Given the description of an element on the screen output the (x, y) to click on. 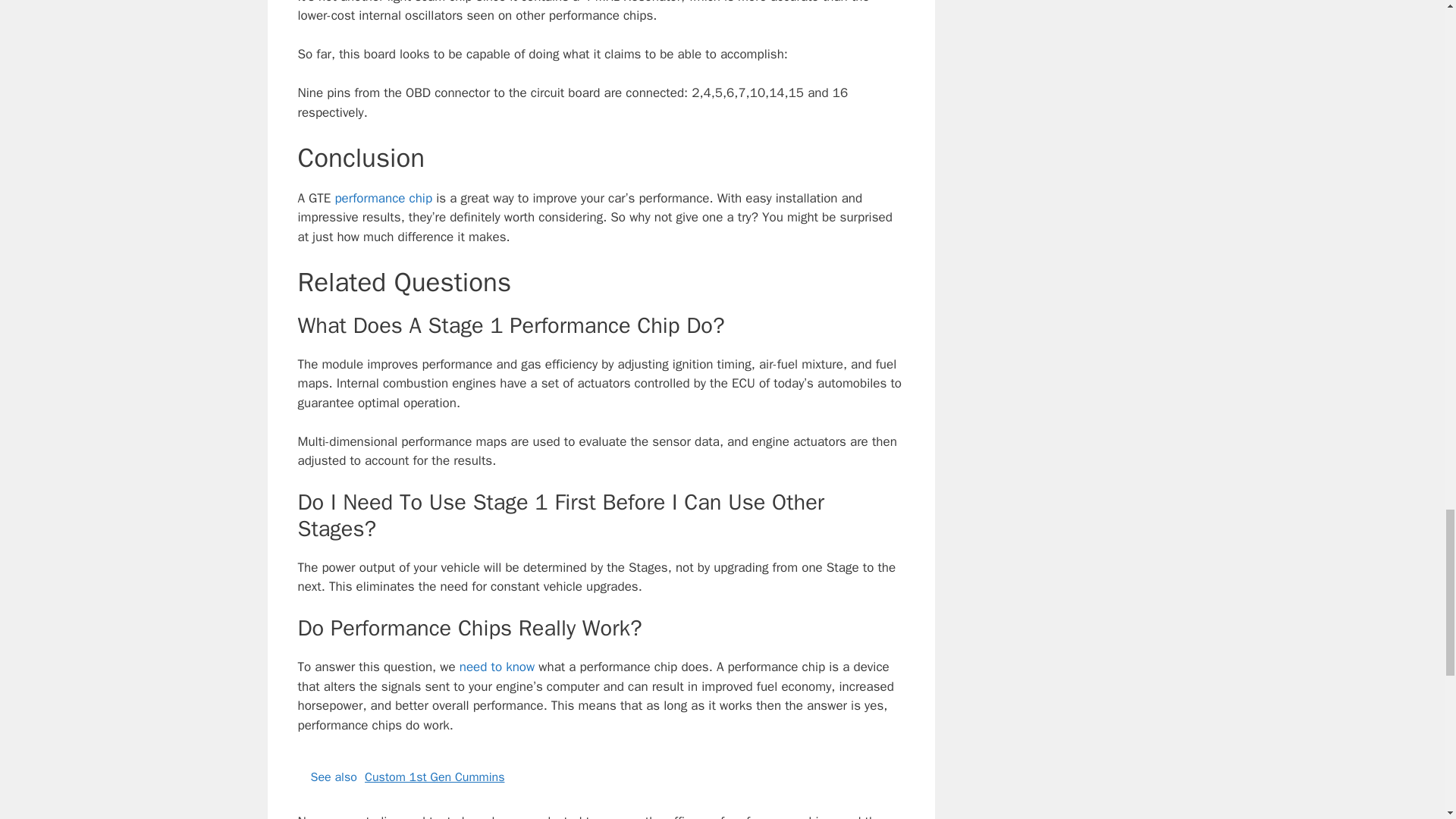
performance chip (383, 198)
